Given the description of an element on the screen output the (x, y) to click on. 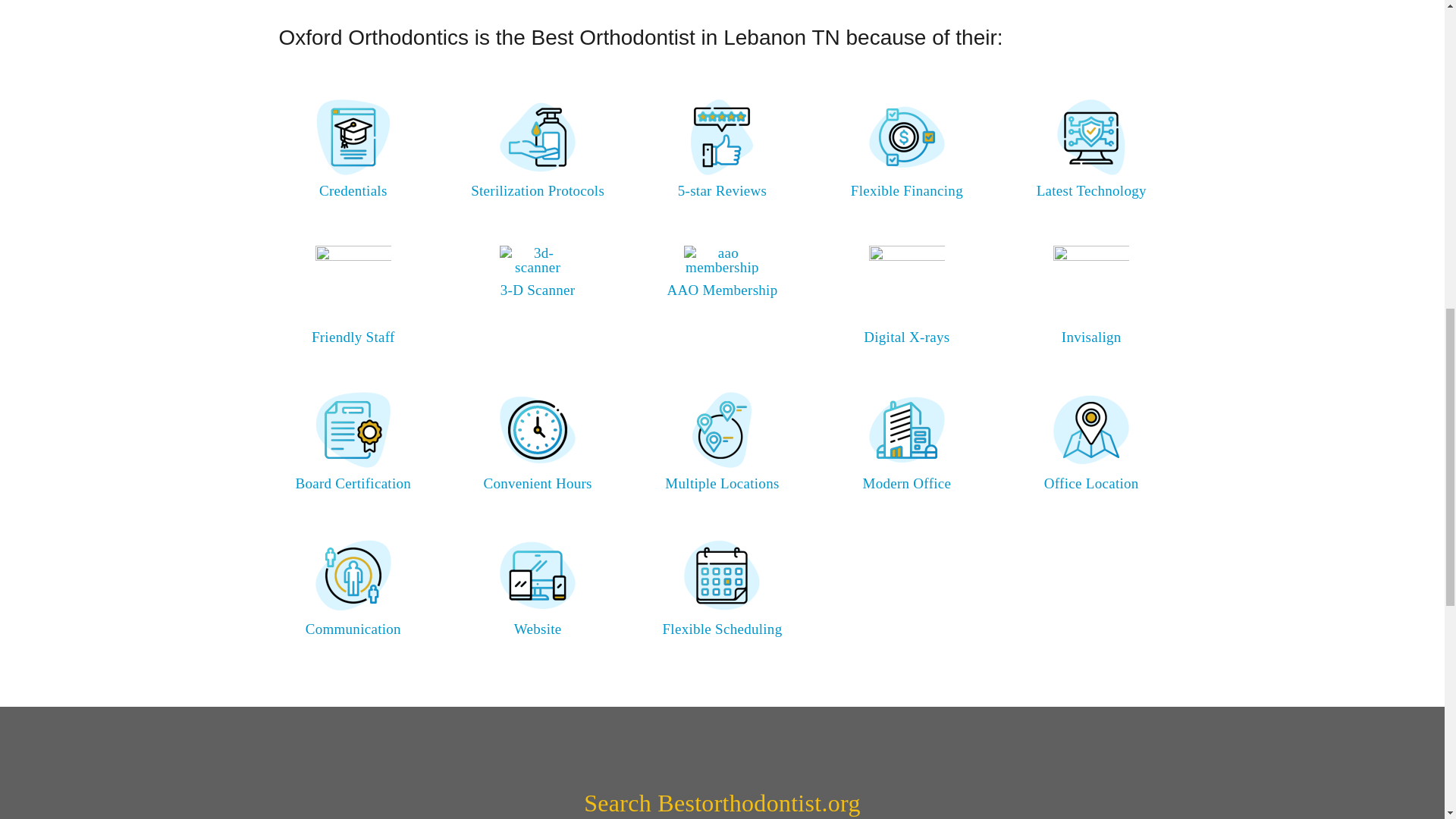
Flexible Financing (906, 190)
3-D Scanner (537, 289)
Friendly Staff (352, 336)
Credentials (352, 190)
Sterilization Protocols (537, 190)
AAO Membership (721, 289)
Board Certification (352, 483)
Digital X-rays (906, 336)
5-star Reviews (722, 190)
Latest Technology (1091, 190)
Convenient Hours (537, 483)
Invisalign (1091, 336)
